Given the description of an element on the screen output the (x, y) to click on. 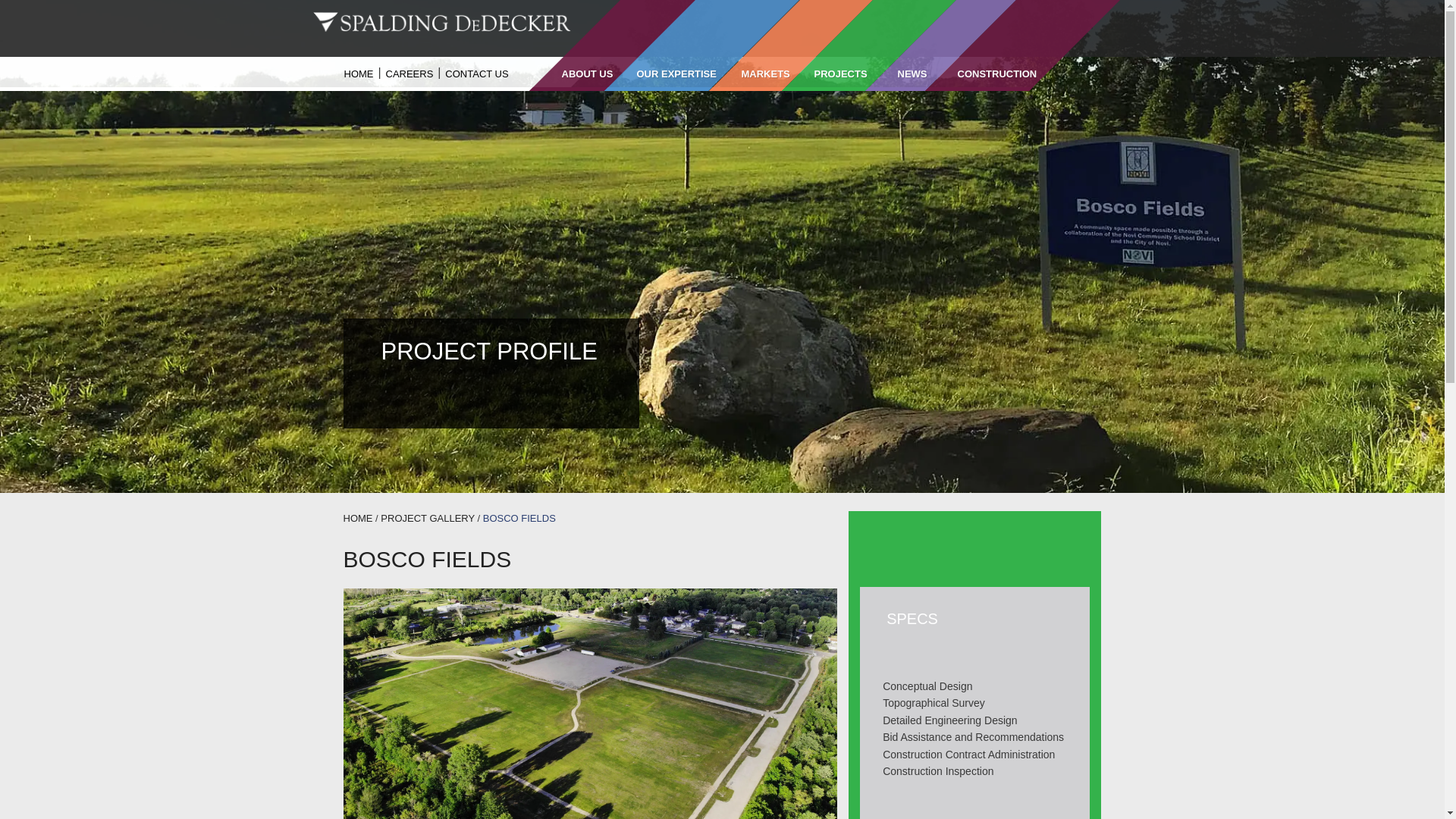
Spalding DeDecker 2 (441, 21)
Spalding DeDecker 2 (441, 21)
CONTACT US (476, 73)
ABOUT US (583, 73)
MARKETS (761, 73)
CAREERS (408, 73)
OUR EXPERTISE (673, 73)
HOME (358, 73)
